Given the description of an element on the screen output the (x, y) to click on. 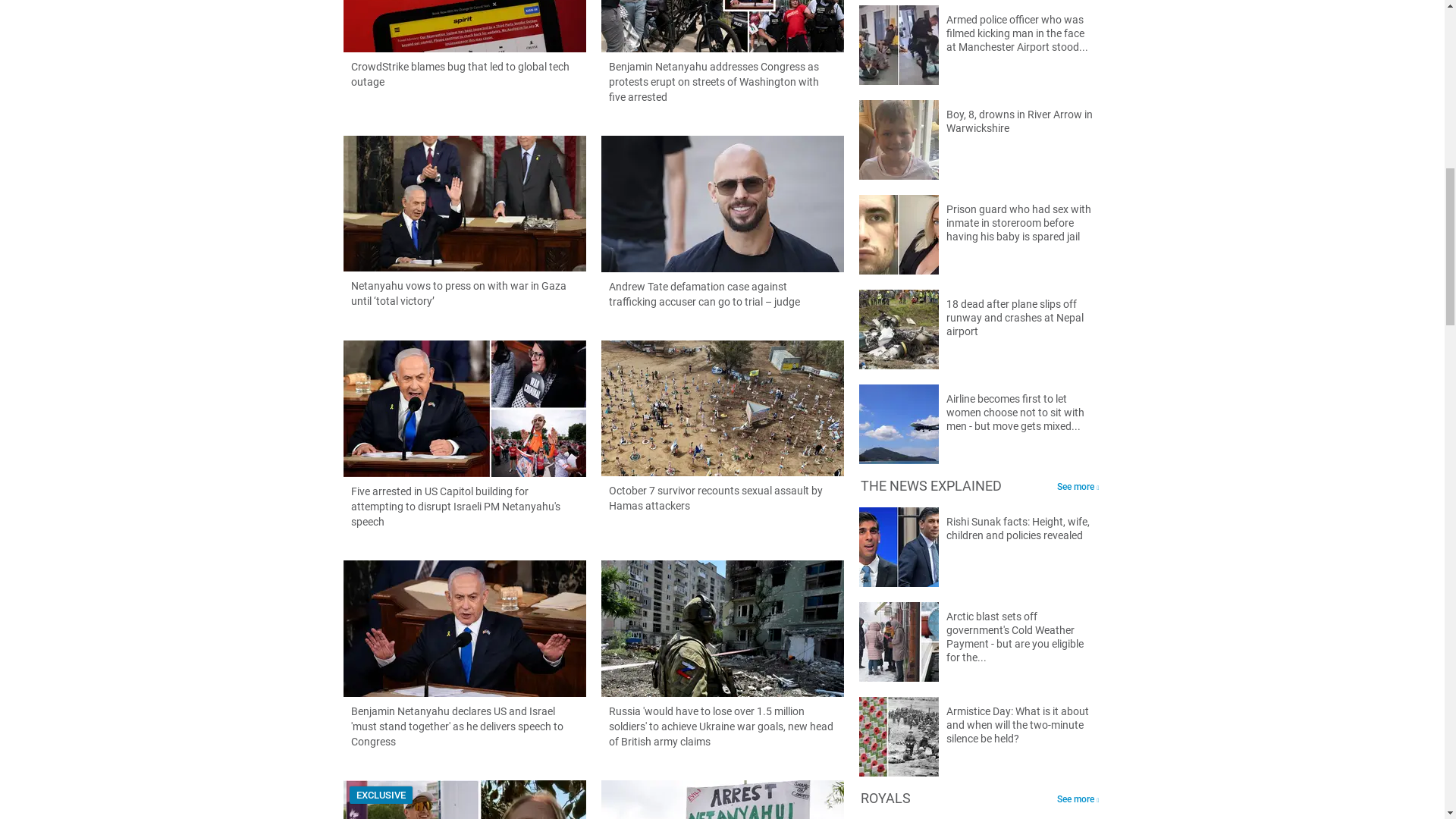
CrowdStrike blames bug that led to global tech outage (463, 45)
